Given the description of an element on the screen output the (x, y) to click on. 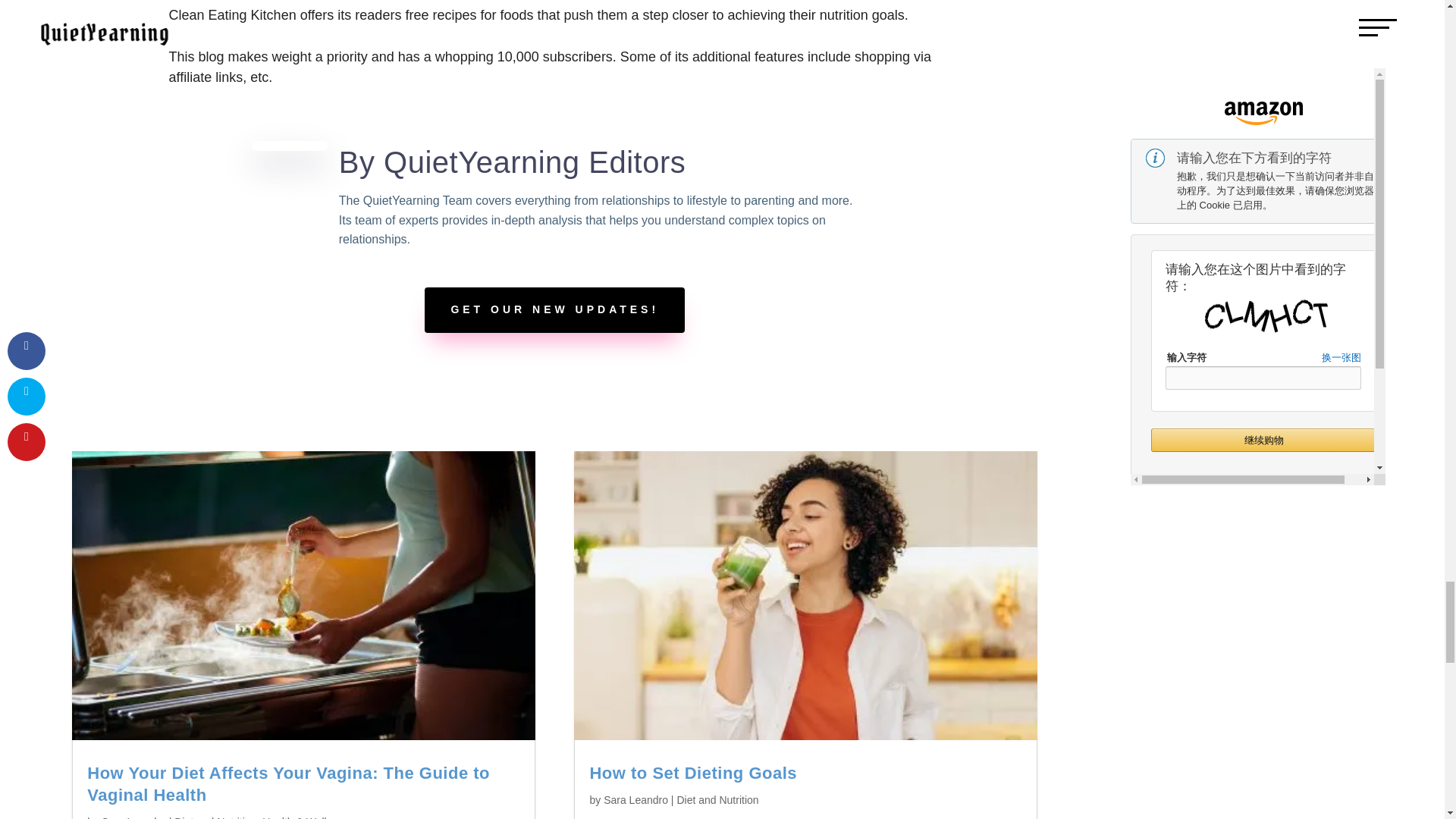
Diet and Nutrition (215, 817)
QuietYearning Editors (534, 162)
GET OUR NEW UPDATES! (554, 309)
Posts by Sara Leandro (636, 799)
Posts by Sara Leandro (133, 817)
Sara Leandro (133, 817)
